Given the description of an element on the screen output the (x, y) to click on. 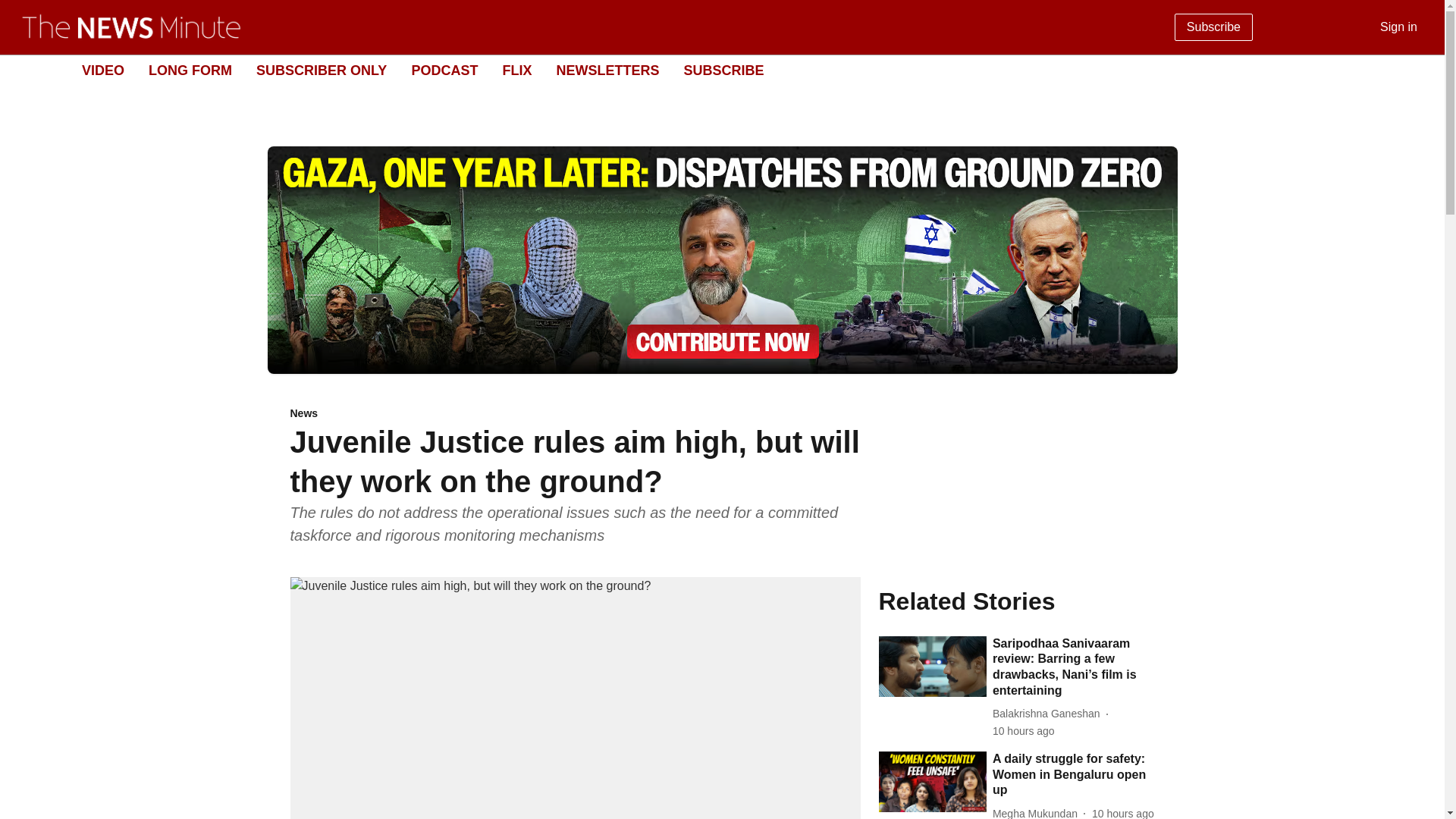
NEWSLETTERS (607, 70)
Dark Mode (1415, 70)
News (574, 414)
2024-08-29 14:40 (1023, 731)
SUBSCRIBE (722, 70)
PODCAST (443, 70)
2024-08-29 14:33 (1123, 812)
LONG FORM (189, 70)
VIDEO (102, 70)
